Given the description of an element on the screen output the (x, y) to click on. 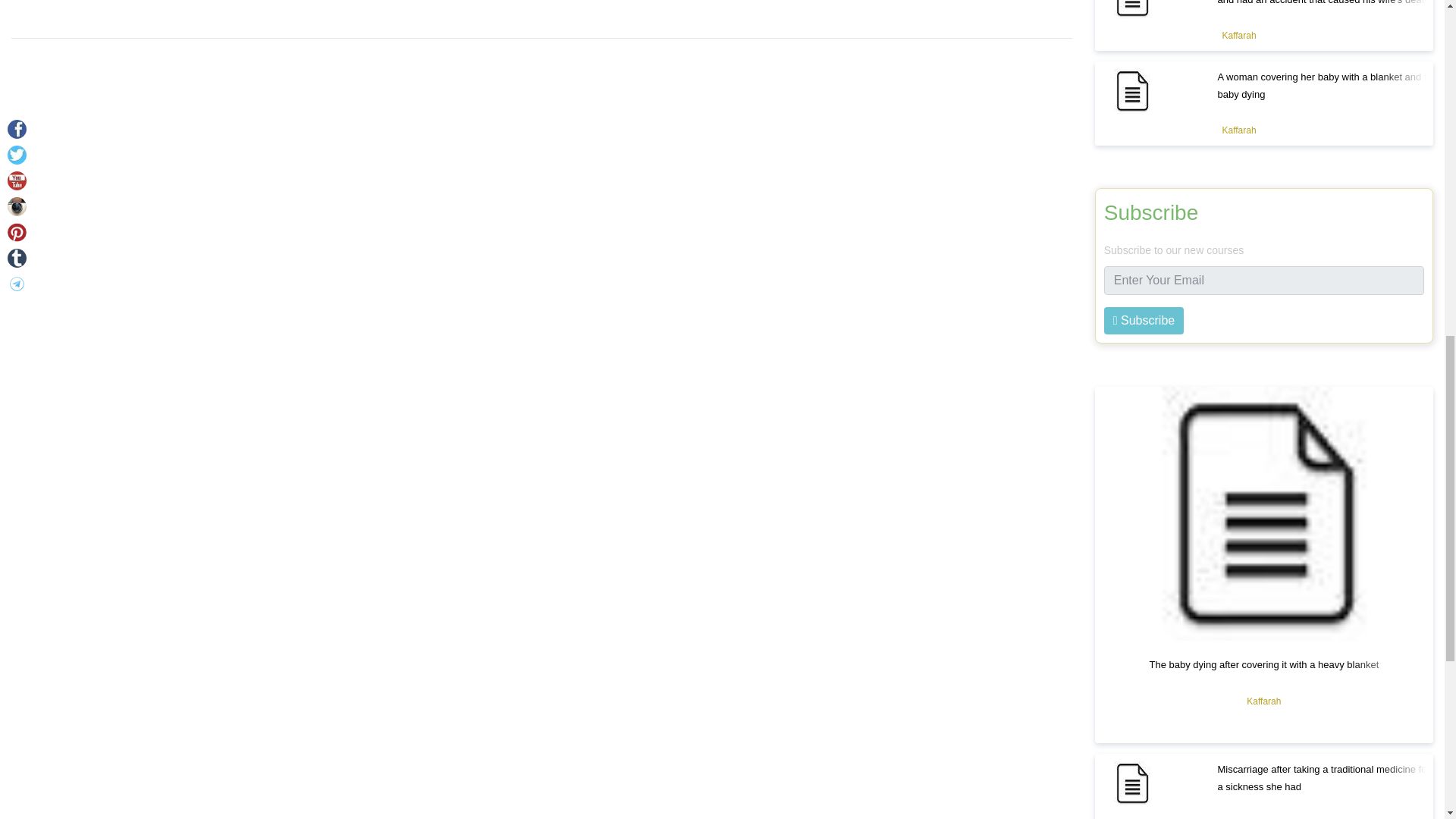
Kaffarah (1238, 35)
